Given the description of an element on the screen output the (x, y) to click on. 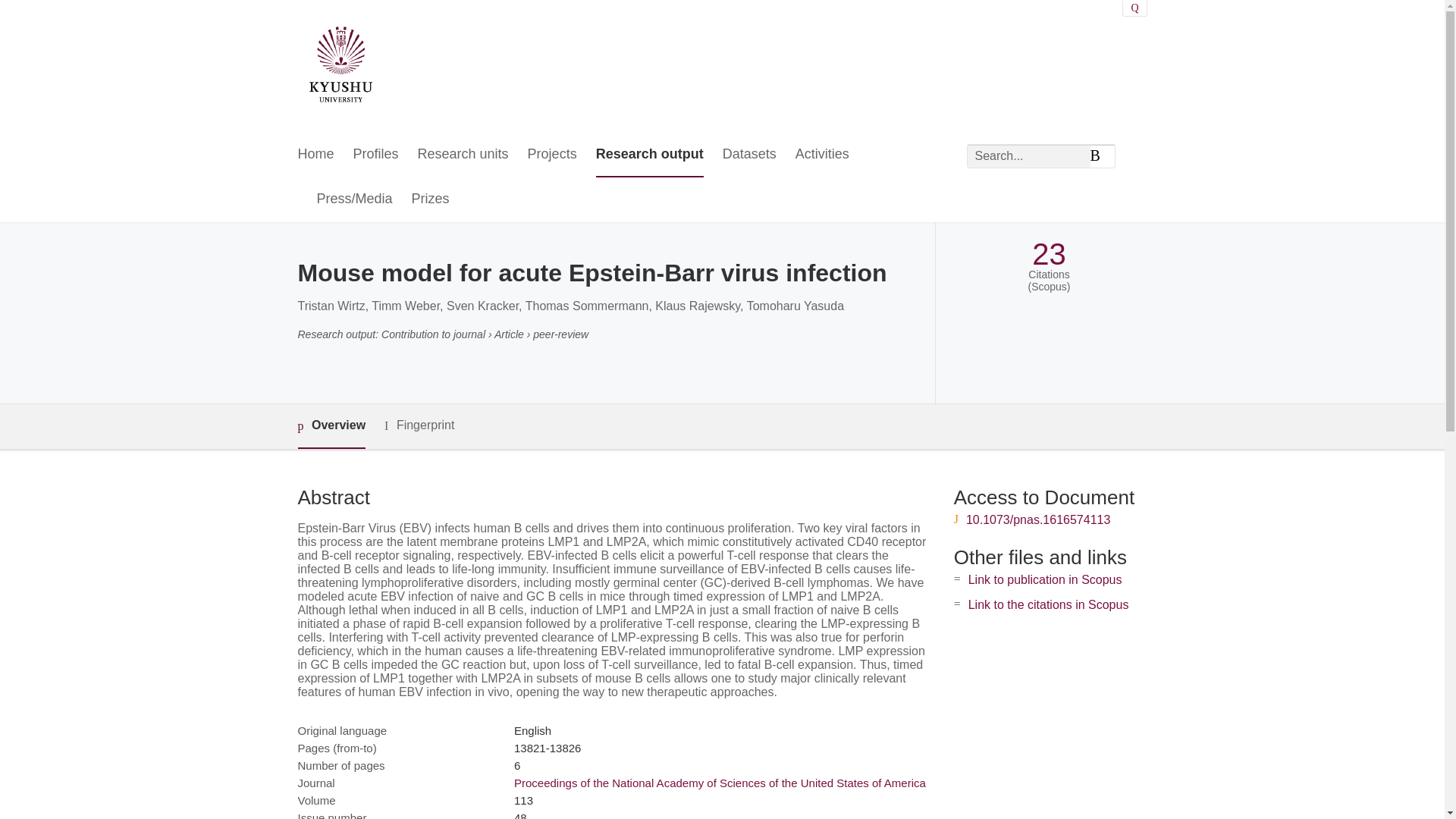
Projects (551, 154)
Datasets (749, 154)
23 (1048, 253)
Profiles (375, 154)
Research output (649, 154)
Link to publication in Scopus (1045, 579)
Research units (462, 154)
Activities (821, 154)
Fingerprint (419, 425)
Overview (331, 426)
Link to the citations in Scopus (1048, 604)
